Given the description of an element on the screen output the (x, y) to click on. 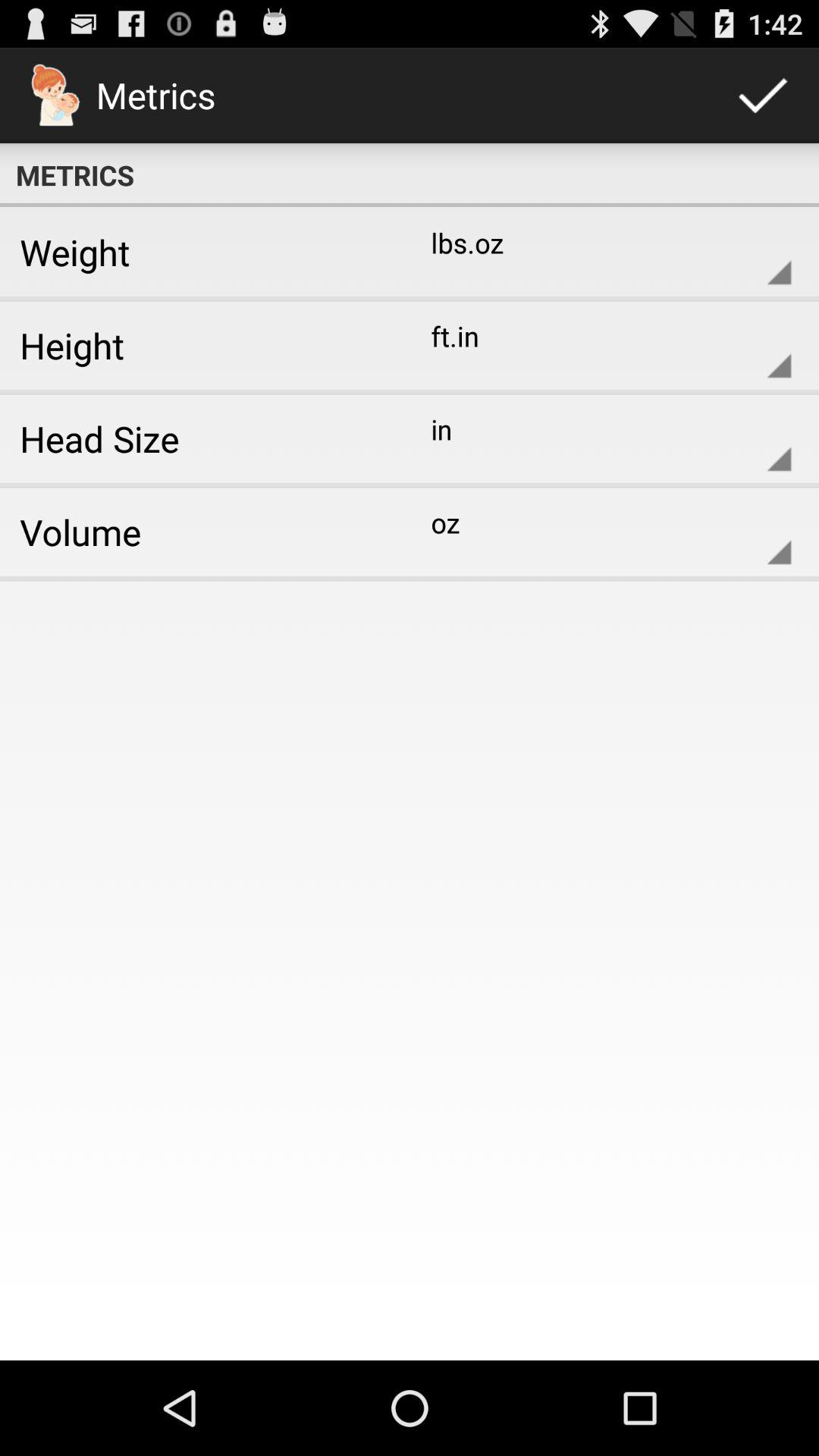
choose the item to the left of lbs.oz item (199, 252)
